Given the description of an element on the screen output the (x, y) to click on. 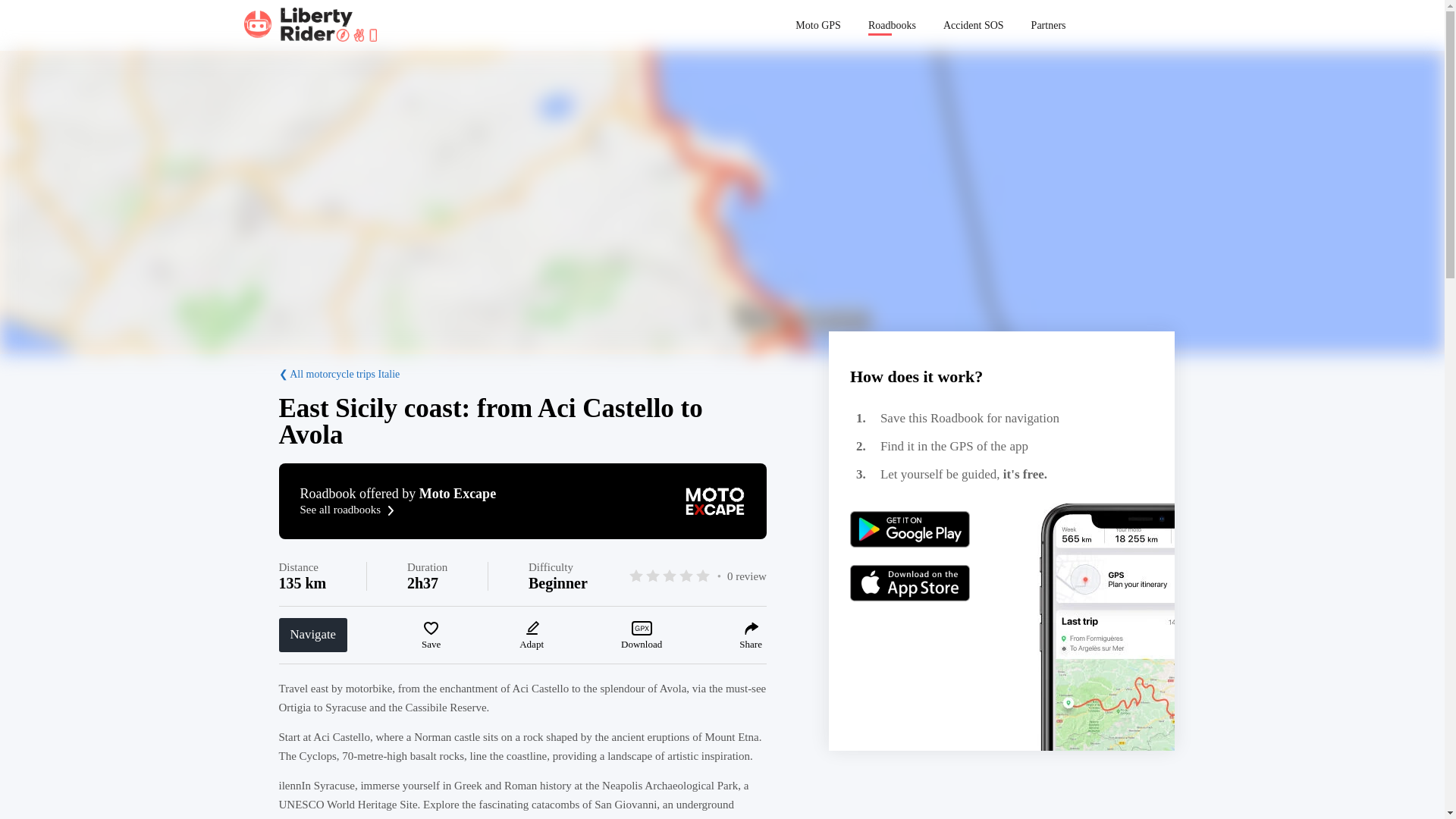
Save (430, 634)
Adapt (531, 634)
Accident SOS (973, 25)
Navigate (313, 634)
No rating (669, 576)
Moto GPS (818, 25)
Roadbooks (892, 25)
Partners (523, 500)
Download (1048, 25)
